Given the description of an element on the screen output the (x, y) to click on. 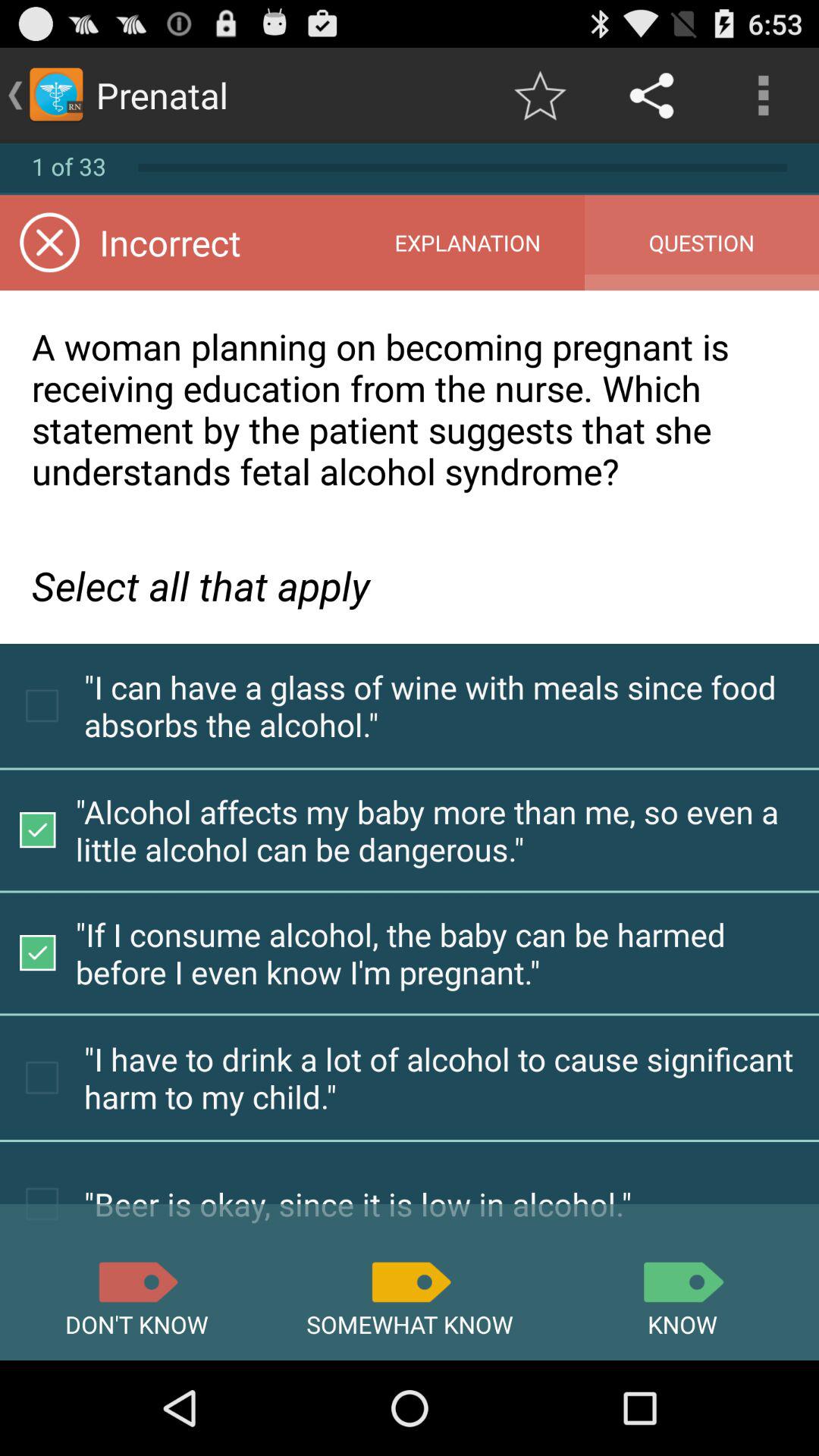
know button (682, 1281)
